Given the description of an element on the screen output the (x, y) to click on. 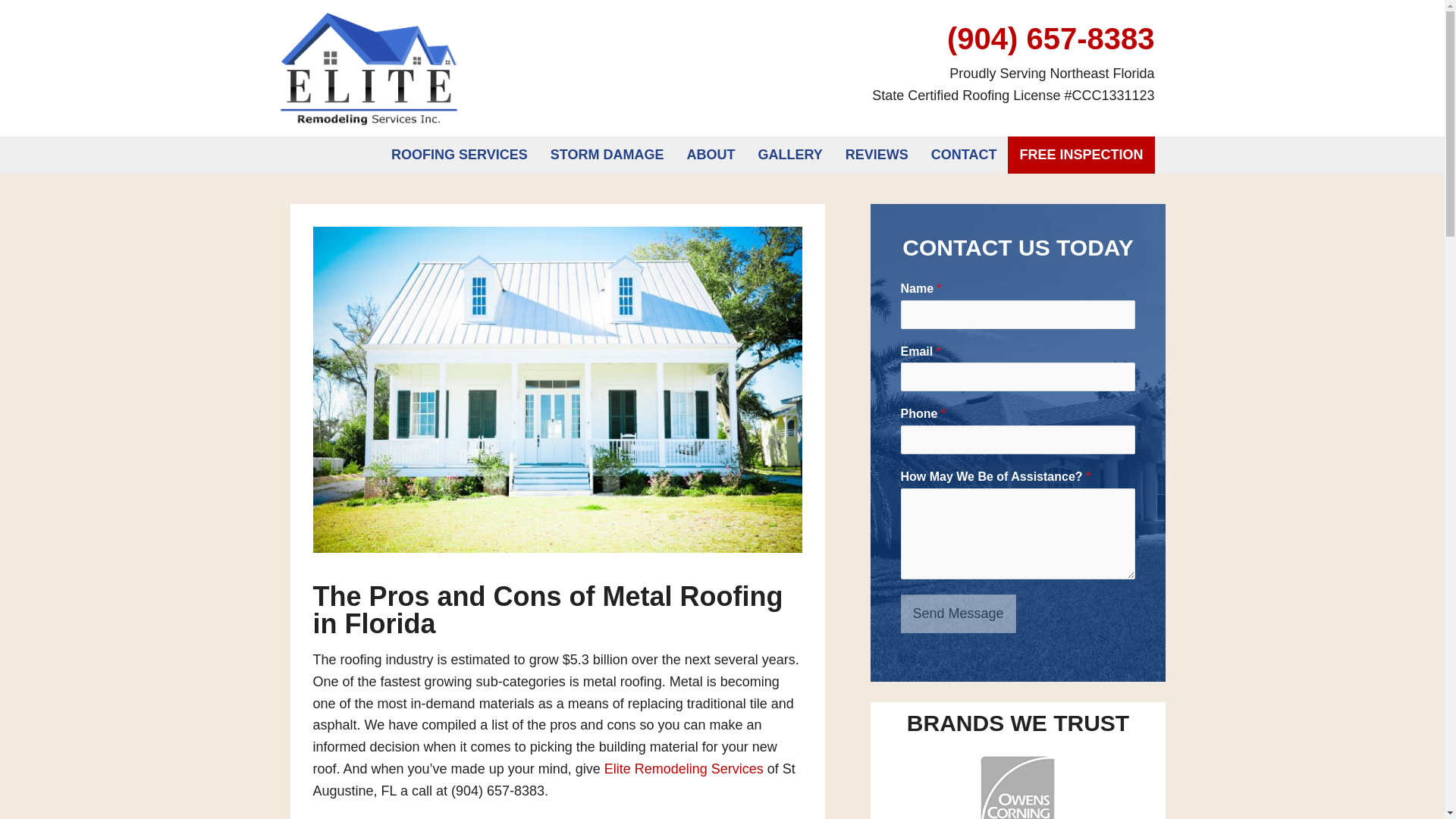
Send Message (958, 613)
GALLERY (788, 154)
REVIEWS (877, 154)
ABOUT (710, 154)
CONTACT (964, 154)
FREE INSPECTION (1080, 154)
STORM DAMAGE (606, 154)
ROOFING SERVICES (459, 154)
Elite Remodeling Services (368, 67)
Elite Remodeling Services (683, 768)
